Given the description of an element on the screen output the (x, y) to click on. 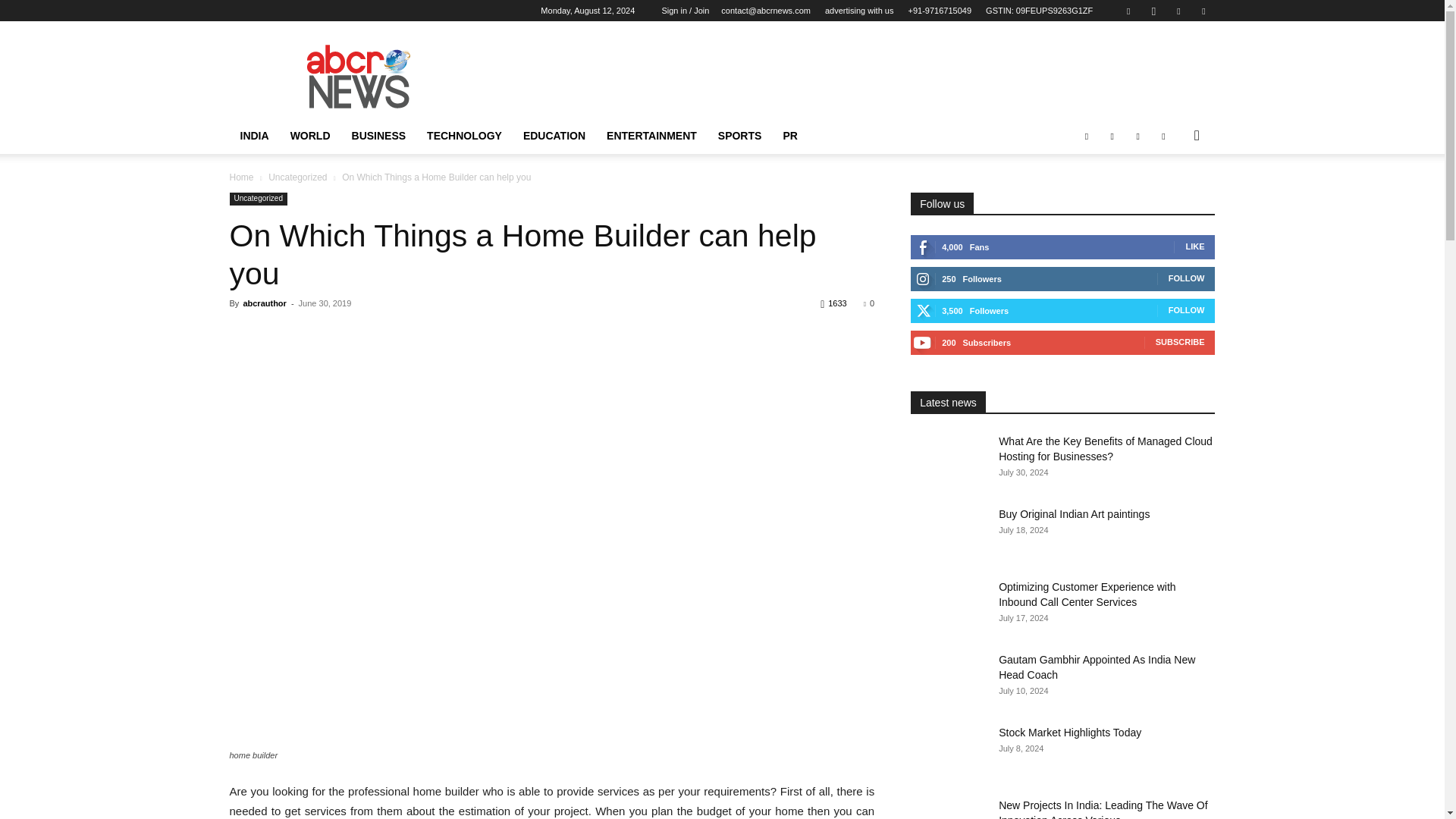
GSTIN: 09FEUPS9263G1ZF (1039, 10)
INDIA (253, 135)
Linkedin (1178, 10)
Youtube (1203, 10)
Facebook (1128, 10)
advertising with us (859, 10)
Instagram (1152, 10)
